Given the description of an element on the screen output the (x, y) to click on. 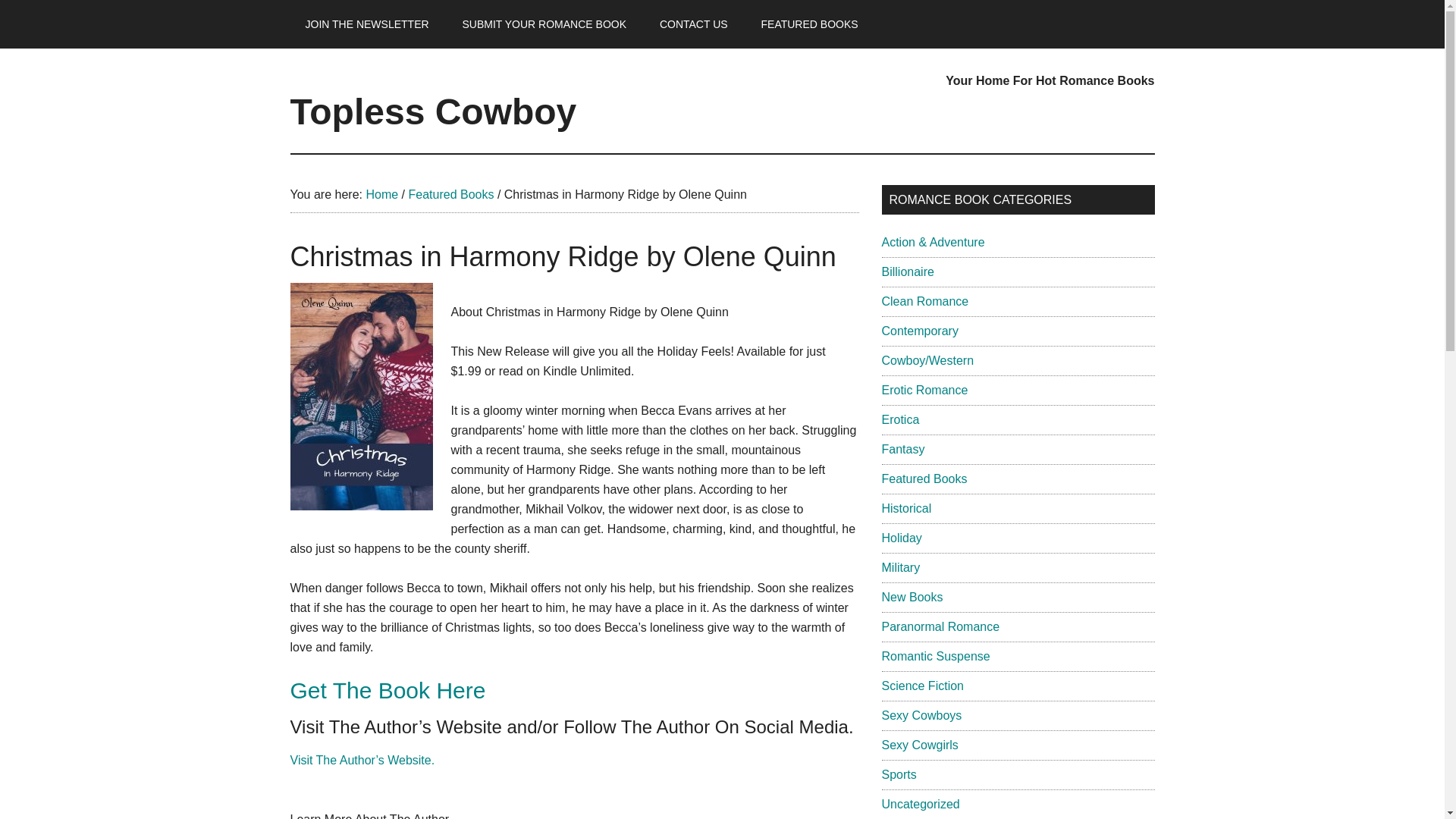
Topless Cowboy (432, 111)
JOIN THE NEWSLETTER (366, 24)
Fantasy (902, 449)
Featured Books (450, 194)
Home (381, 194)
Historical (905, 508)
Clean Romance (924, 300)
Paranormal Romance (939, 626)
Erotic Romance (924, 390)
Billionaire (906, 271)
Get The Book Here (386, 690)
FEATURED BOOKS (809, 24)
Featured Books (923, 478)
SUBMIT YOUR ROMANCE BOOK (544, 24)
Romantic Suspense (935, 656)
